Given the description of an element on the screen output the (x, y) to click on. 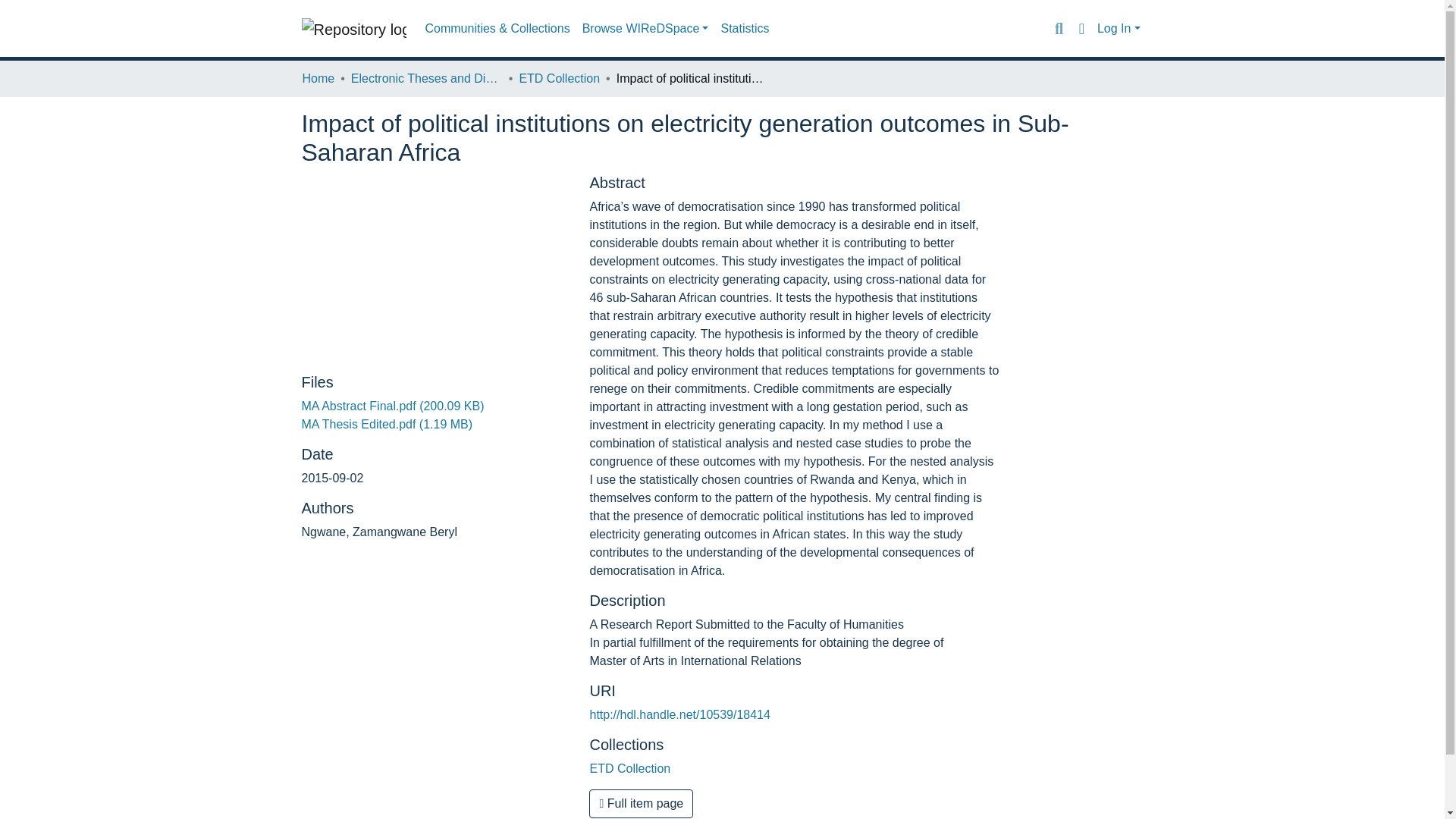
Full item page (641, 803)
Browse WIReDSpace (645, 28)
ETD Collection (629, 768)
Home (317, 78)
Log In (1118, 28)
Statistics (744, 28)
Statistics (744, 28)
ETD Collection (558, 78)
Search (1058, 28)
Language switch (1081, 28)
